Given the description of an element on the screen output the (x, y) to click on. 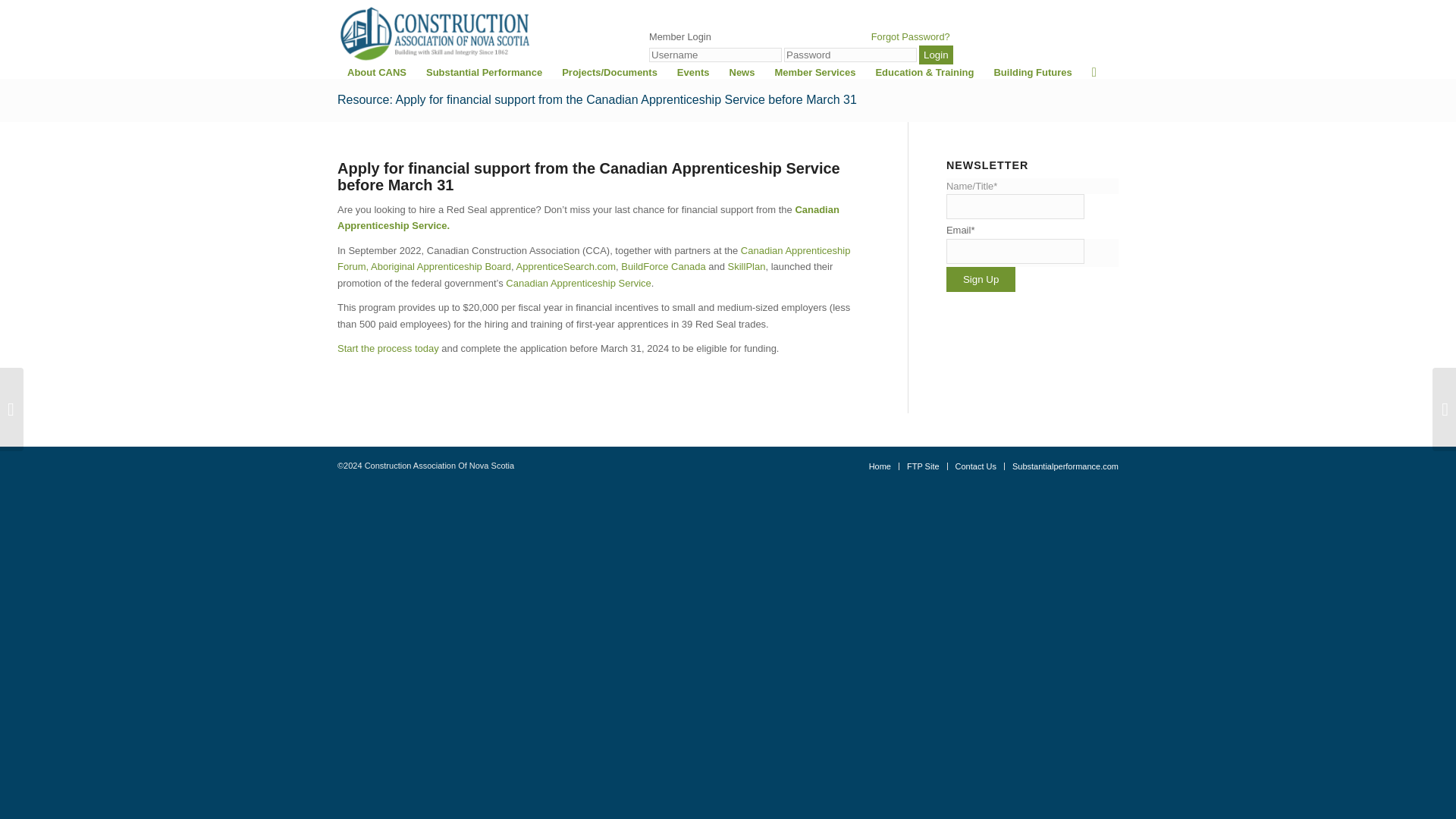
Member Services (814, 72)
Sign Up (980, 278)
About CANS (376, 72)
Substantial Performance (483, 72)
